Given the description of an element on the screen output the (x, y) to click on. 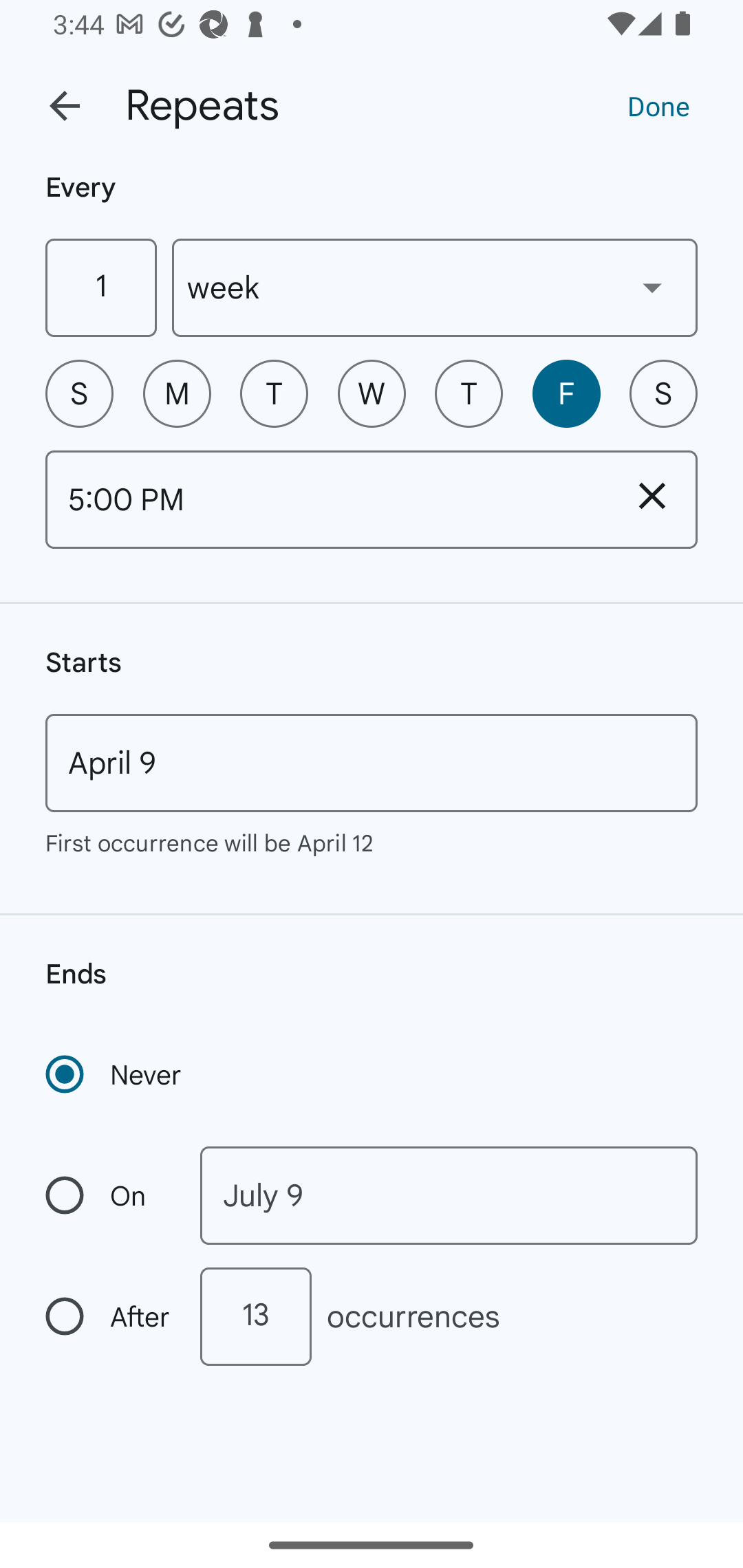
Back (64, 105)
Done (658, 105)
1 (100, 287)
week (434, 287)
Show dropdown menu (652, 286)
S Sunday (79, 393)
M Monday (177, 393)
T Tuesday (273, 393)
W Wednesday (371, 393)
T Thursday (468, 393)
F Friday, selected (566, 393)
S Saturday (663, 393)
5:00 PM (326, 499)
Remove 5:00 PM (652, 495)
April 9 (371, 762)
Never Recurrence never ends (115, 1074)
July 9 (448, 1195)
On Recurrence ends on a specific date (109, 1195)
13 (255, 1315)
